Given the description of an element on the screen output the (x, y) to click on. 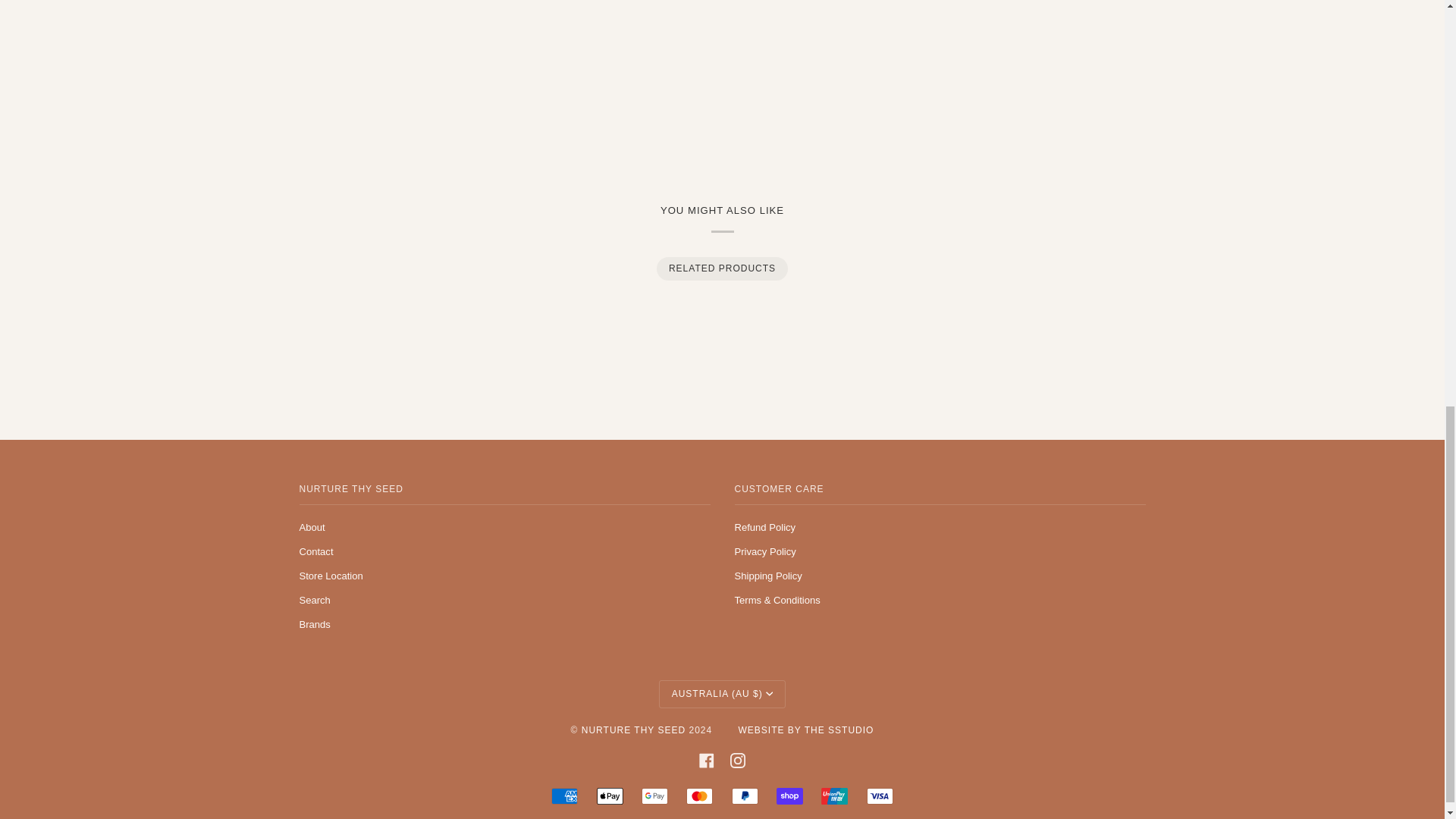
UNION PAY (834, 795)
RELATED PRODUCTS (721, 268)
APPLE PAY (609, 795)
GOOGLE PAY (655, 795)
PAYPAL (745, 795)
AMERICAN EXPRESS (564, 795)
MASTERCARD (699, 795)
VISA (879, 795)
Instagram (737, 760)
Facebook (706, 760)
SHOP PAY (789, 795)
